Given the description of an element on the screen output the (x, y) to click on. 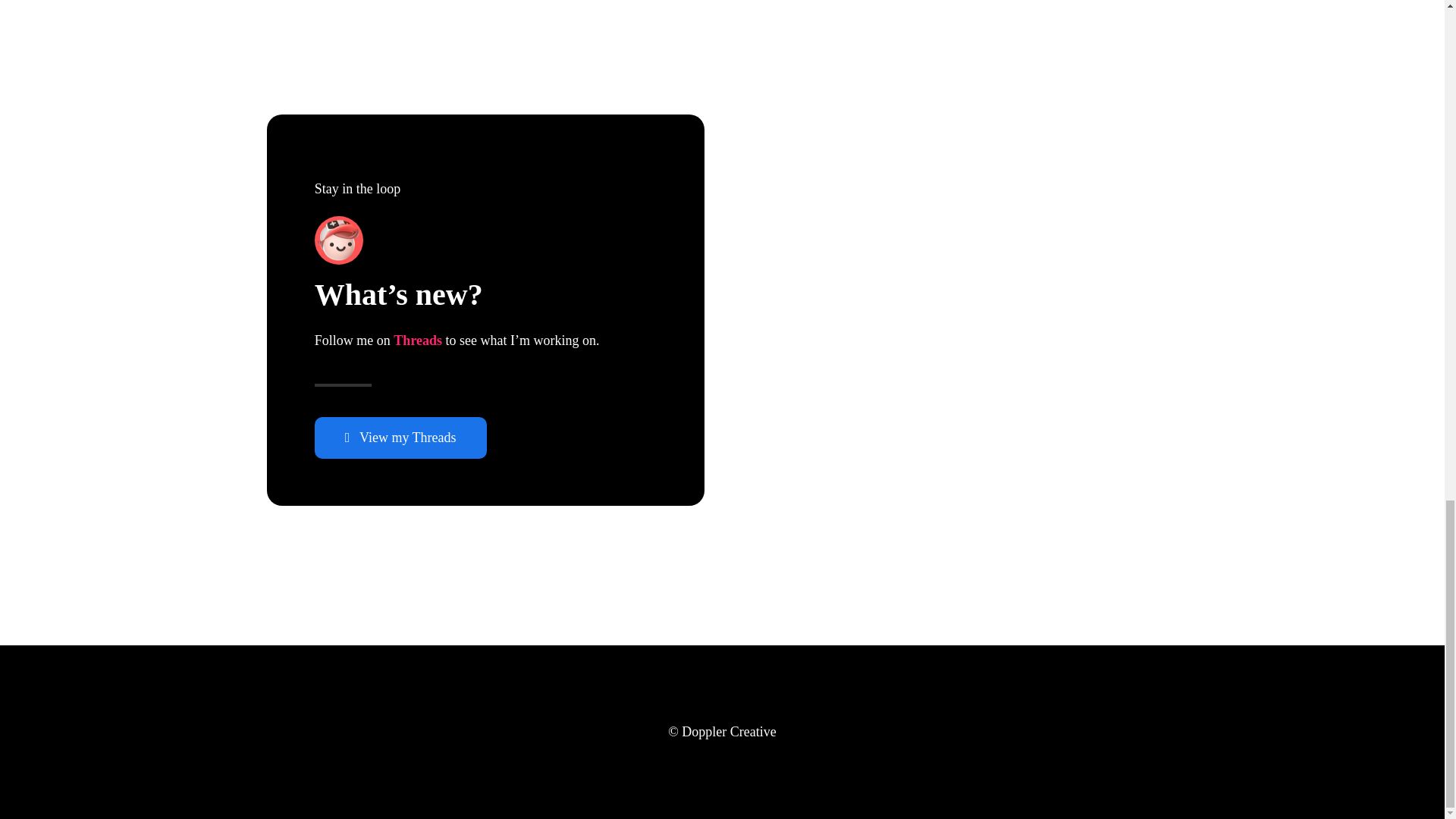
me-3d-2-lr (338, 240)
View my Threads (400, 437)
